Given the description of an element on the screen output the (x, y) to click on. 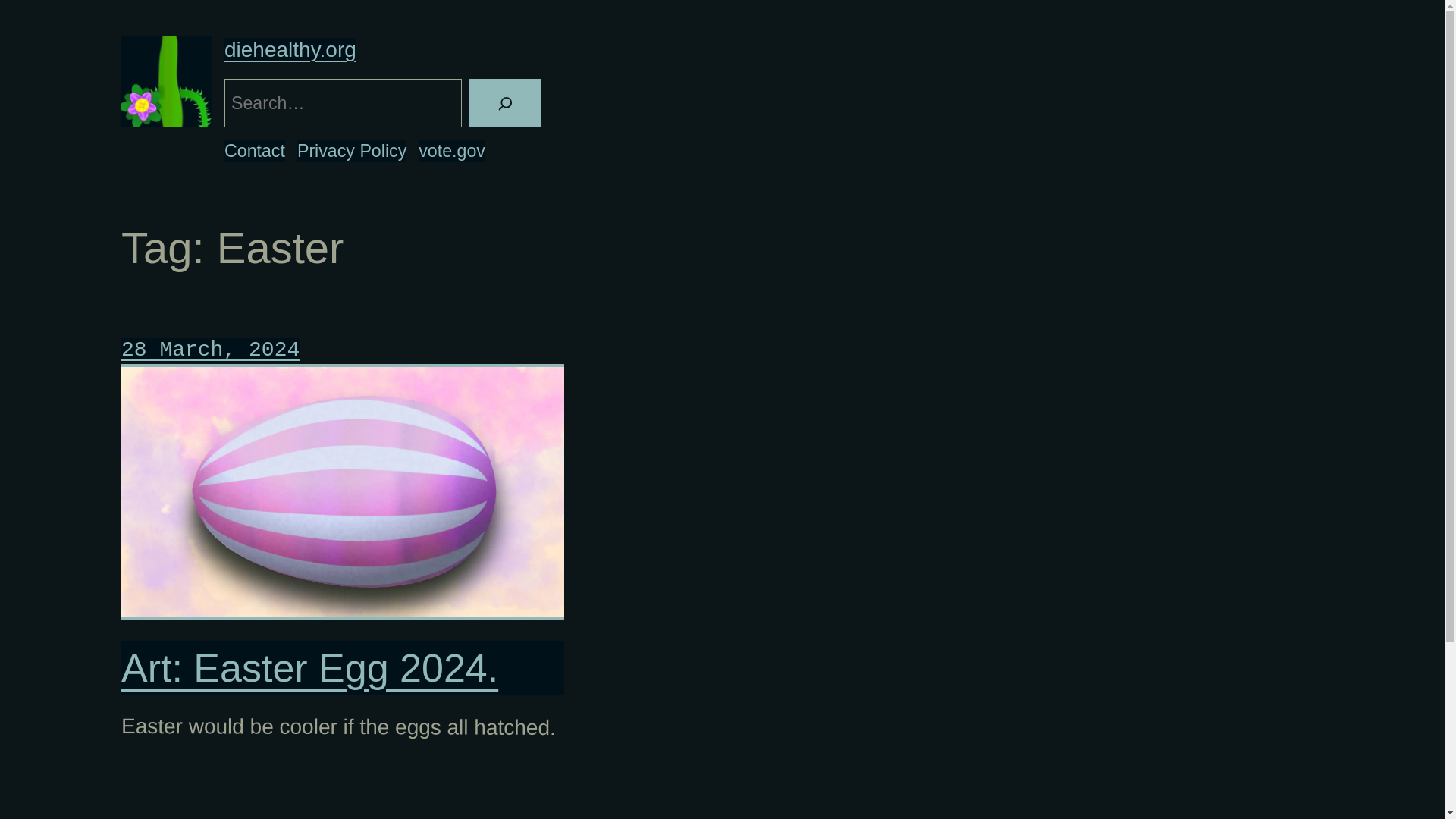
vote.gov (451, 150)
diehealthy.org (290, 49)
Privacy Policy (351, 150)
Art: Easter Egg 2024. (342, 668)
28 March, 2024 (209, 349)
Contact (254, 150)
